Given the description of an element on the screen output the (x, y) to click on. 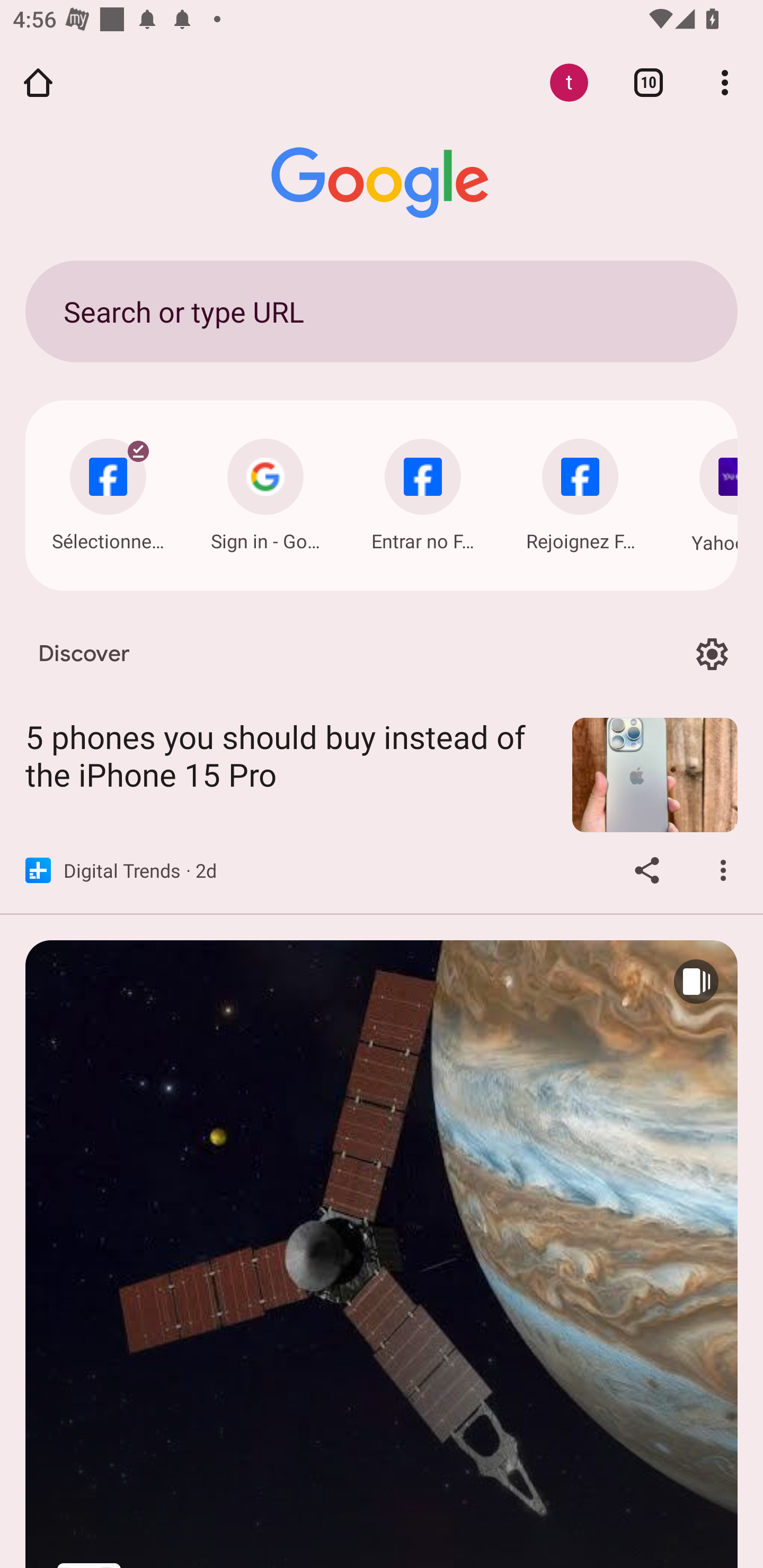
Open the home page (38, 82)
Switch or close tabs (648, 82)
Customize and control Google Chrome (724, 82)
Search or type URL (381, 311)
Navigate: Yahoo首頁: hk.mobi.yahoo.com Yahoo首頁 (705, 491)
Options for Discover (711, 654)
